Given the description of an element on the screen output the (x, y) to click on. 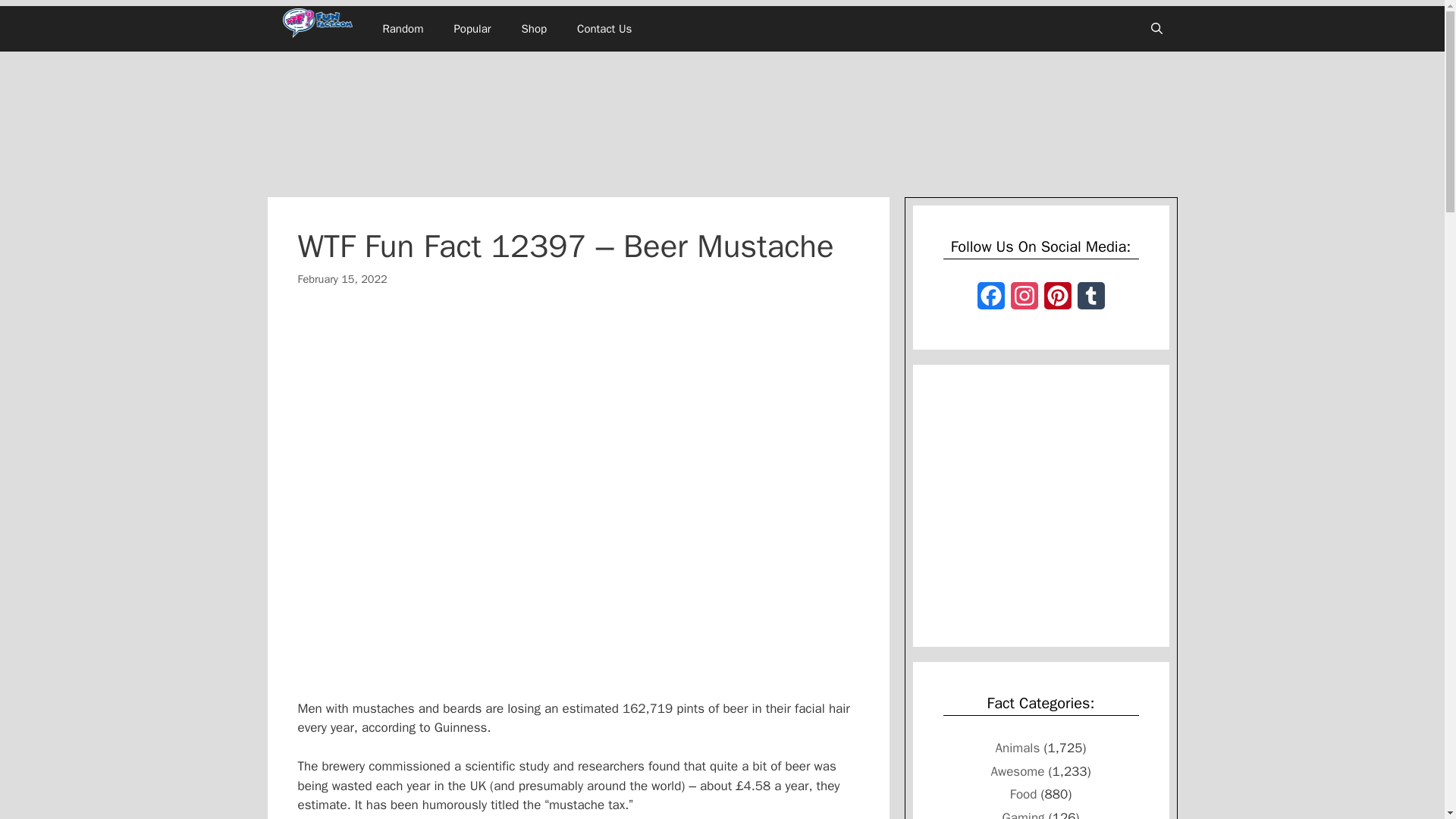
Random (402, 28)
Shop (534, 28)
Instagram (1024, 300)
Contact Us (604, 28)
Pinterest (1057, 300)
Popular (471, 28)
Facebook (990, 300)
Tumblr (1090, 300)
